Given the description of an element on the screen output the (x, y) to click on. 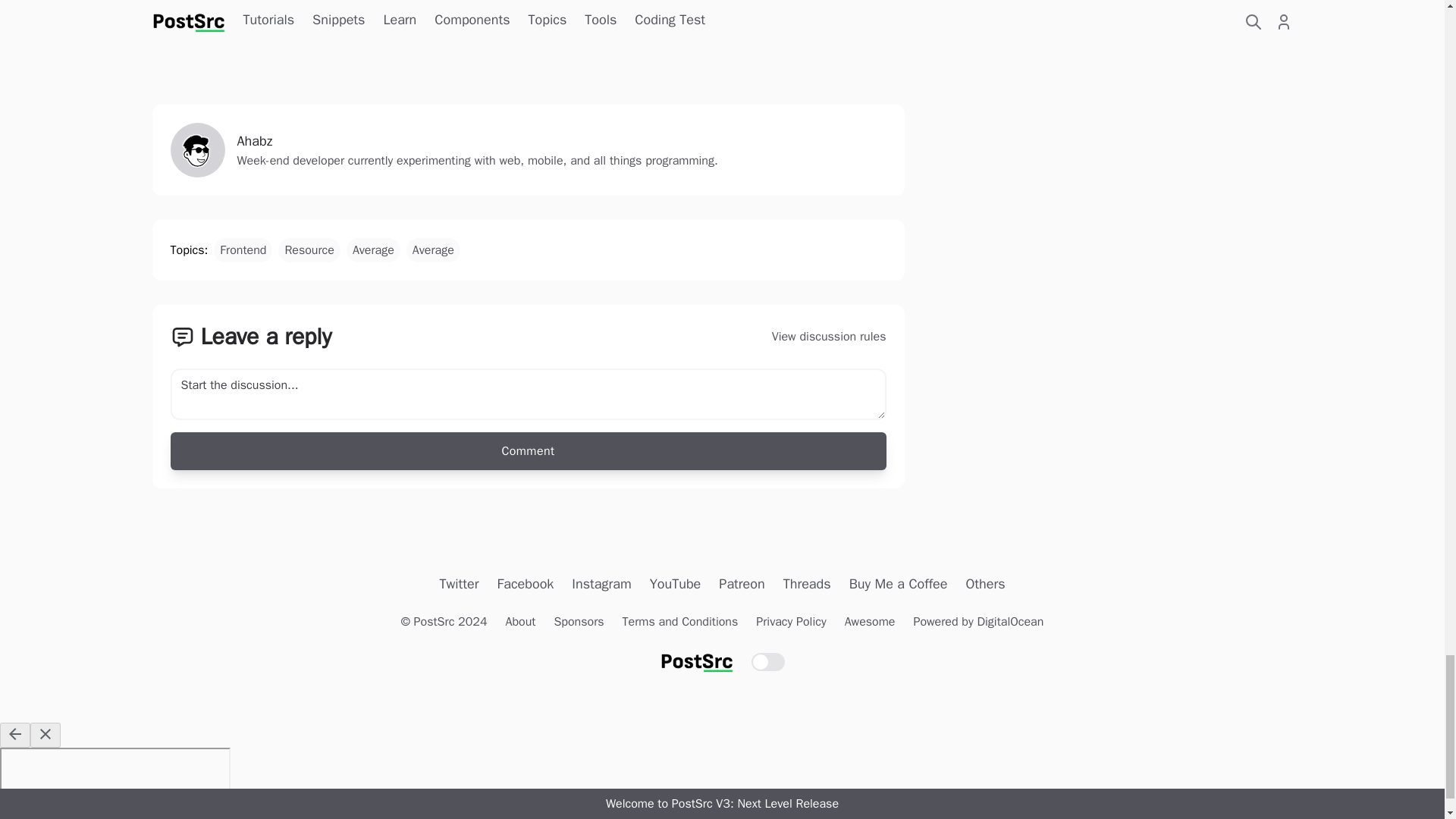
Comment (527, 451)
View discussion rules (527, 396)
